Given the description of an element on the screen output the (x, y) to click on. 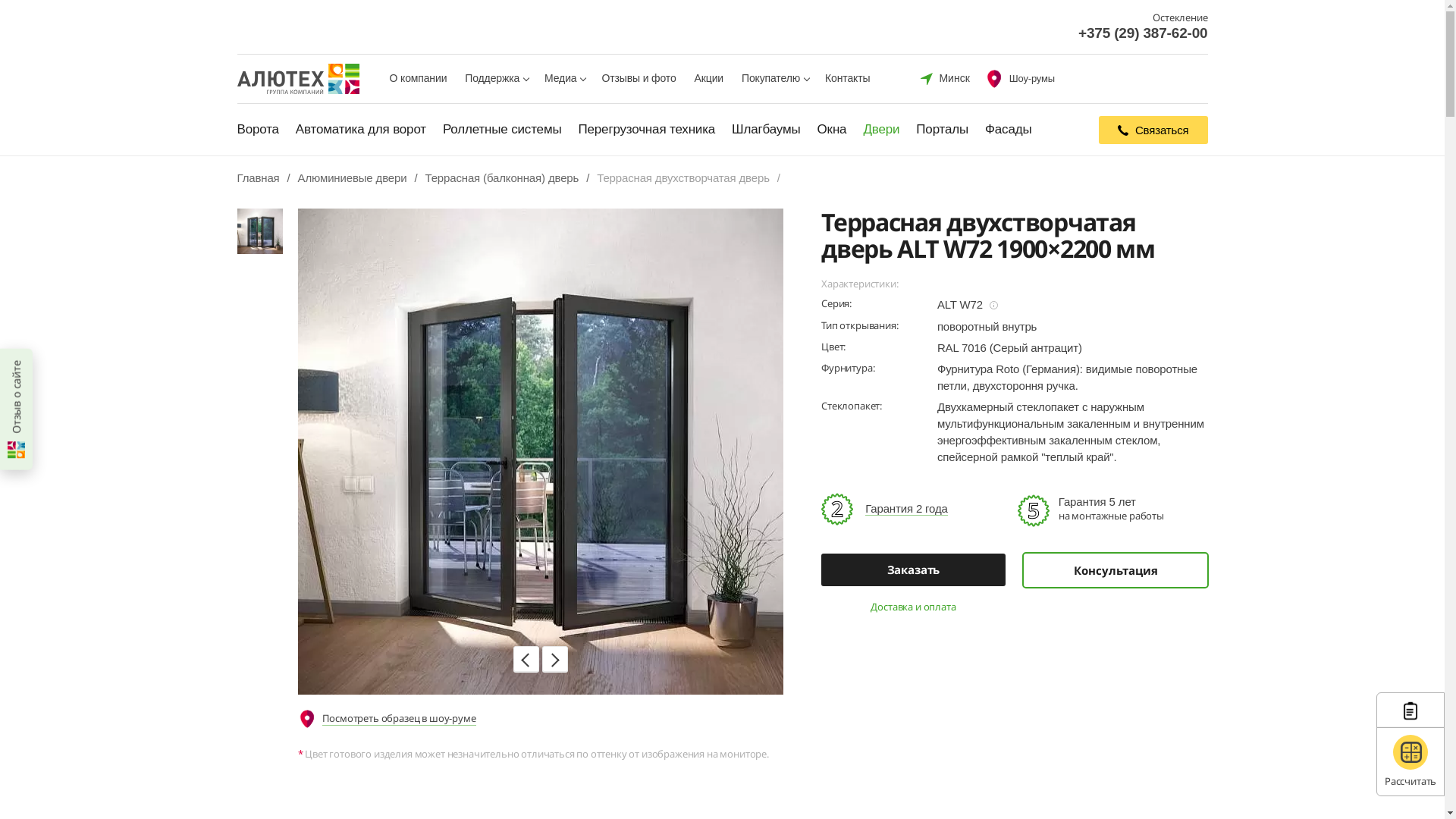
+375 (29) 387-62-00 Element type: text (1143, 32)
